Given the description of an element on the screen output the (x, y) to click on. 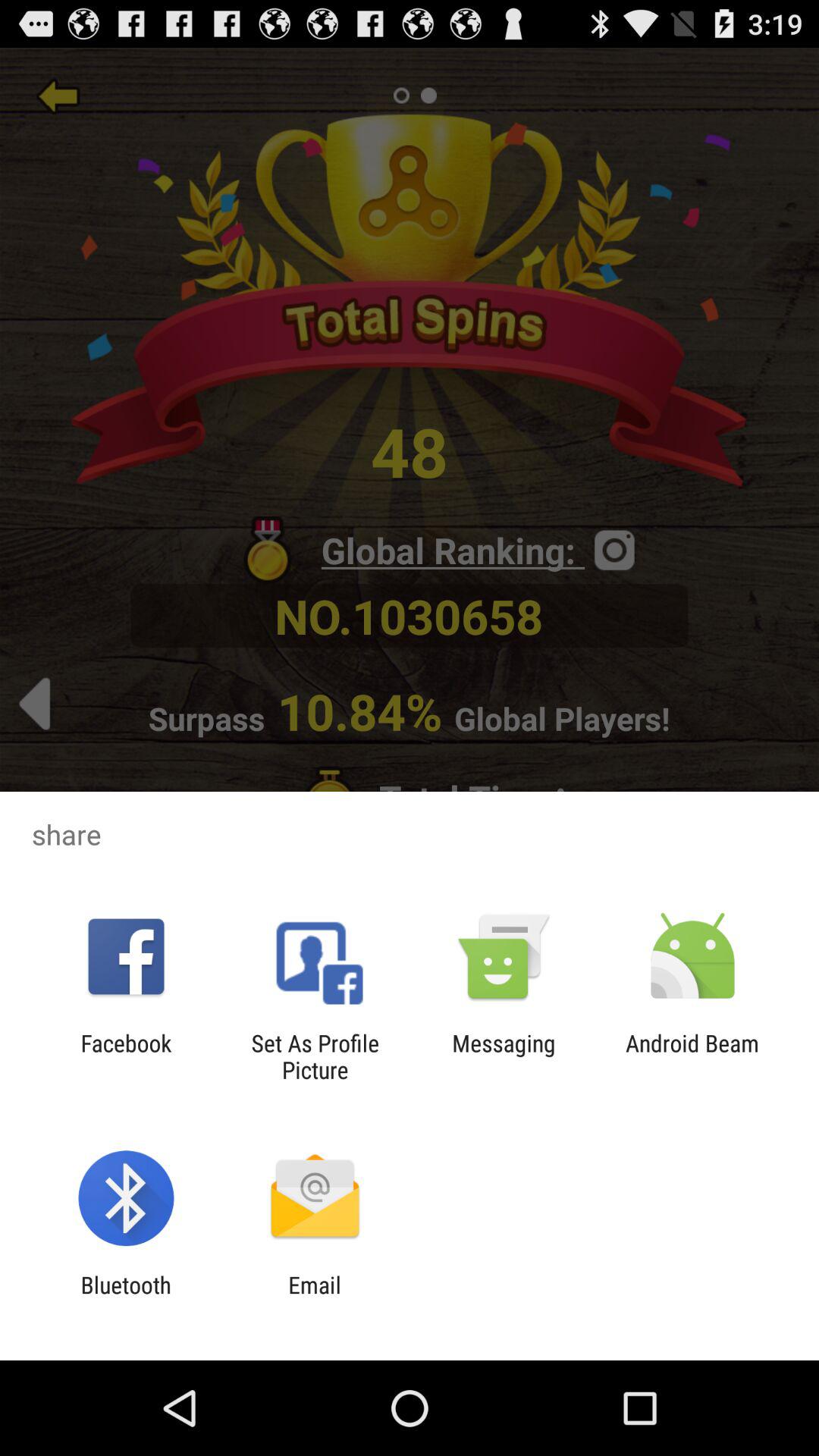
click the icon next to the android beam item (503, 1056)
